Given the description of an element on the screen output the (x, y) to click on. 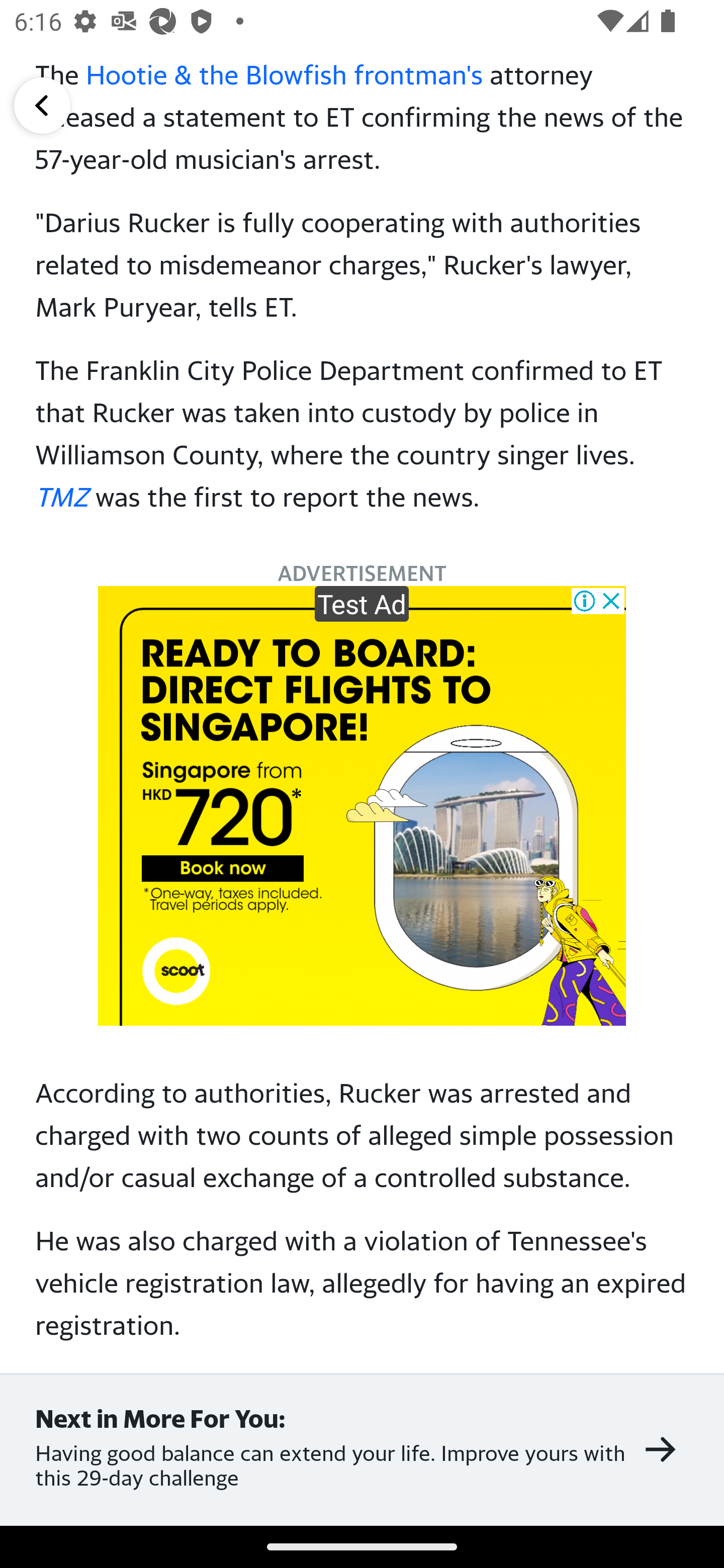
Hootie & the Blowfish frontman's (283, 74)
Back (41, 104)
TMZ (62, 495)
